Given the description of an element on the screen output the (x, y) to click on. 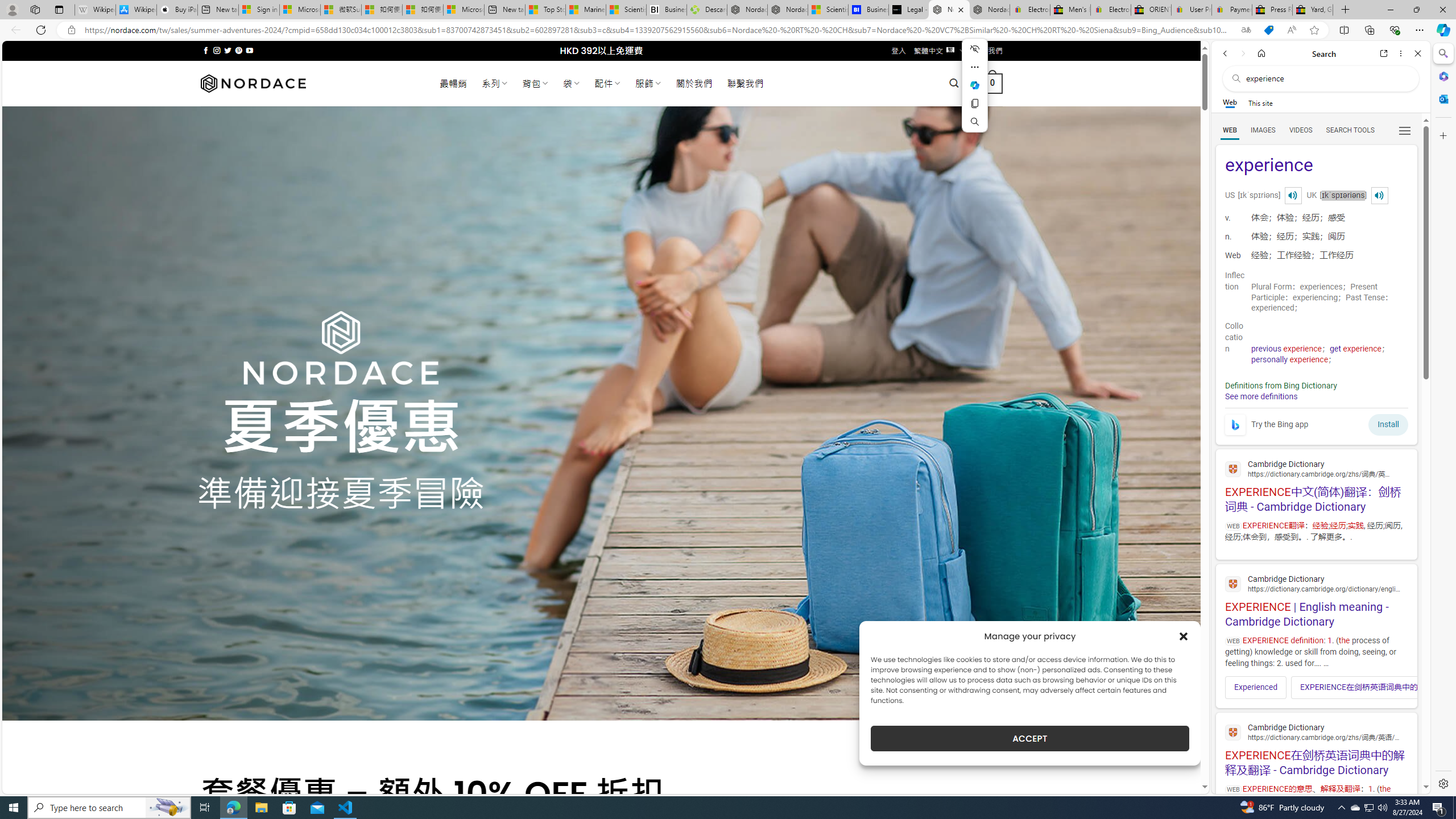
Mini menu on text selection (974, 91)
See more definitions (1260, 396)
